Given the description of an element on the screen output the (x, y) to click on. 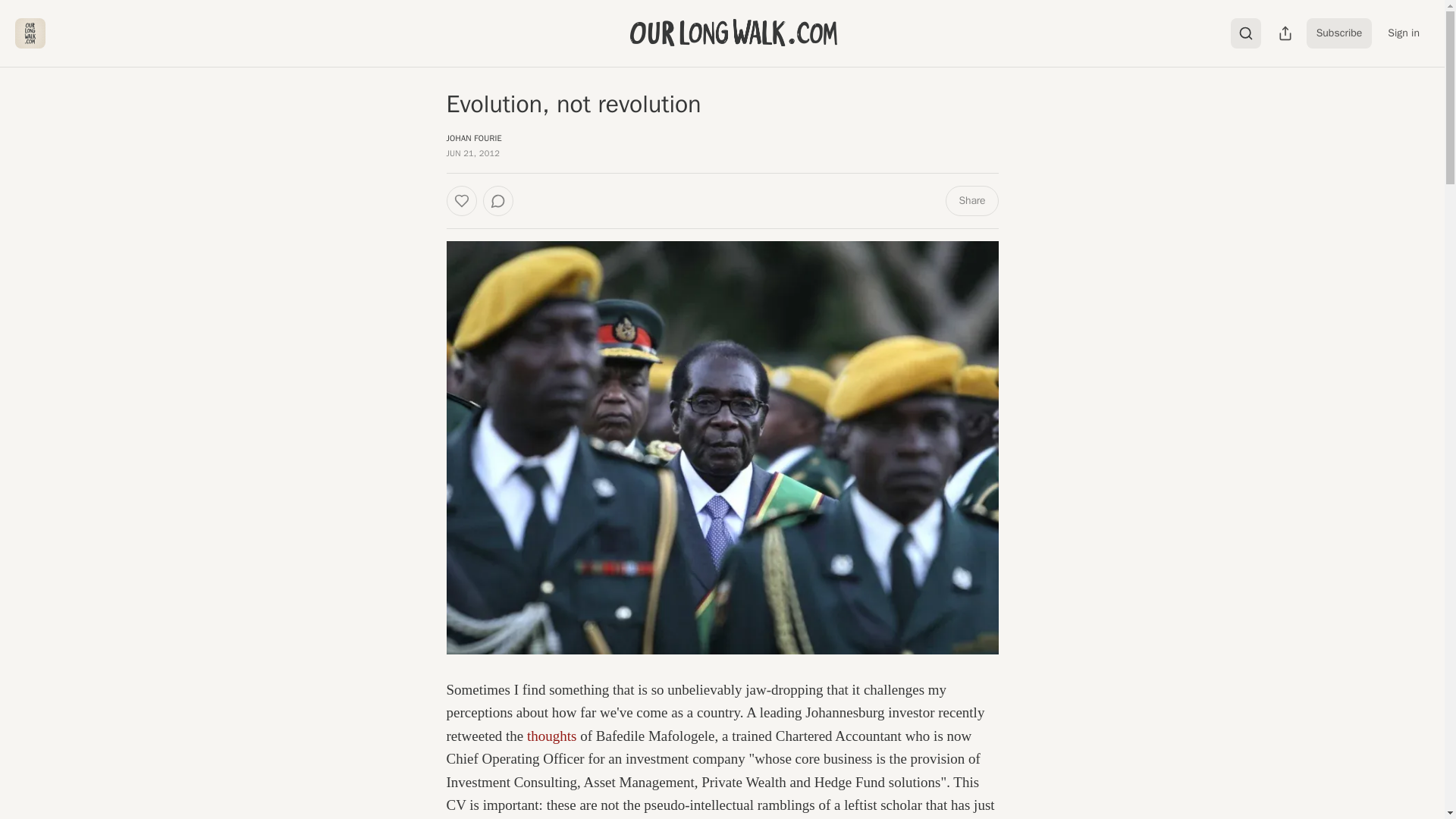
JOHAN FOURIE (472, 137)
Subscribe (1339, 33)
thoughts (551, 735)
Sign in (1403, 33)
Share (970, 200)
